Given the description of an element on the screen output the (x, y) to click on. 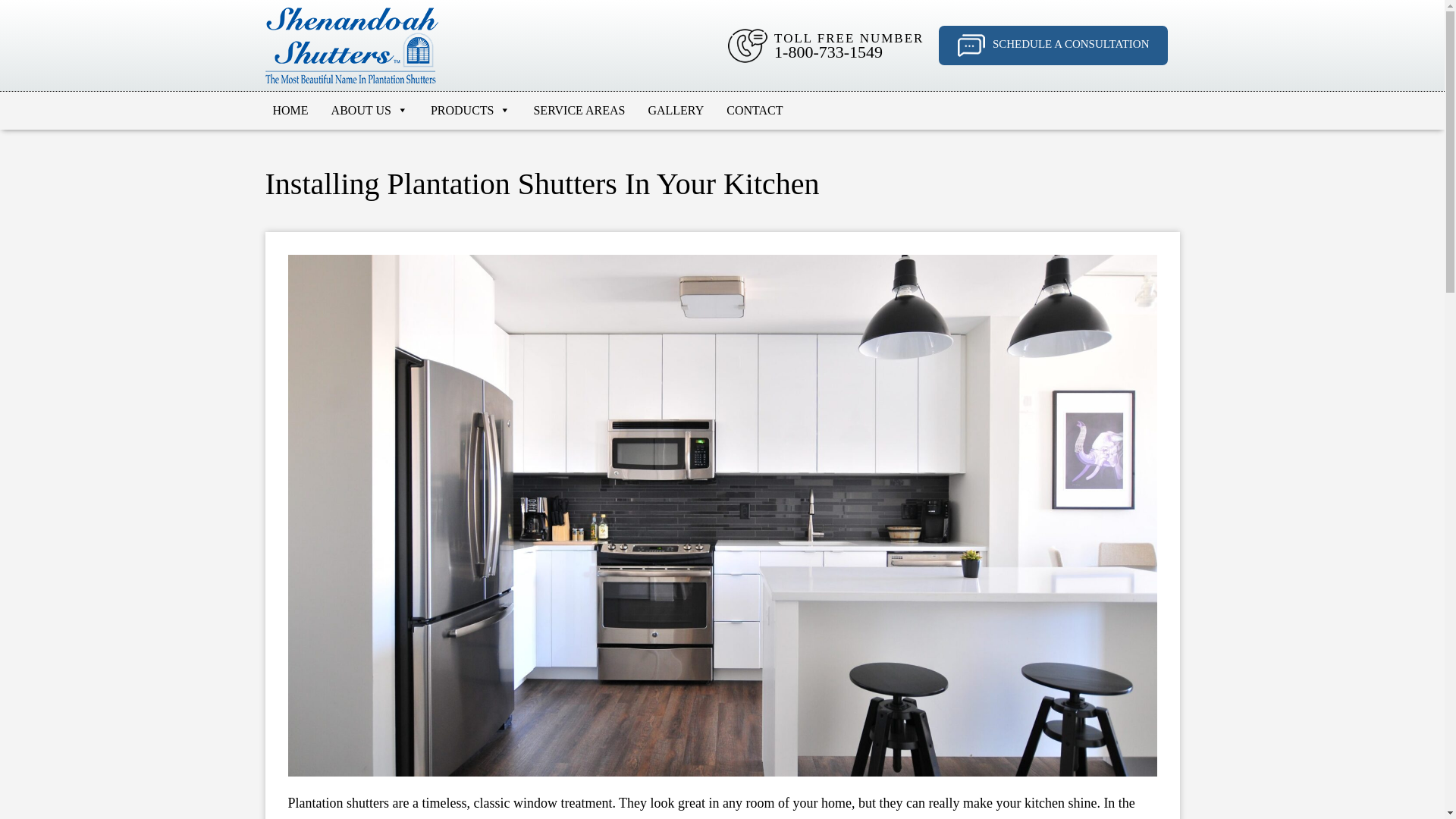
HOME (289, 110)
CONTACT (754, 110)
SERVICE AREAS (578, 110)
SCHEDULE A CONSULTATION (1054, 45)
1-800-733-1549 (828, 51)
GALLERY (675, 110)
ABOUT US (368, 110)
PRODUCTS (470, 110)
